Given the description of an element on the screen output the (x, y) to click on. 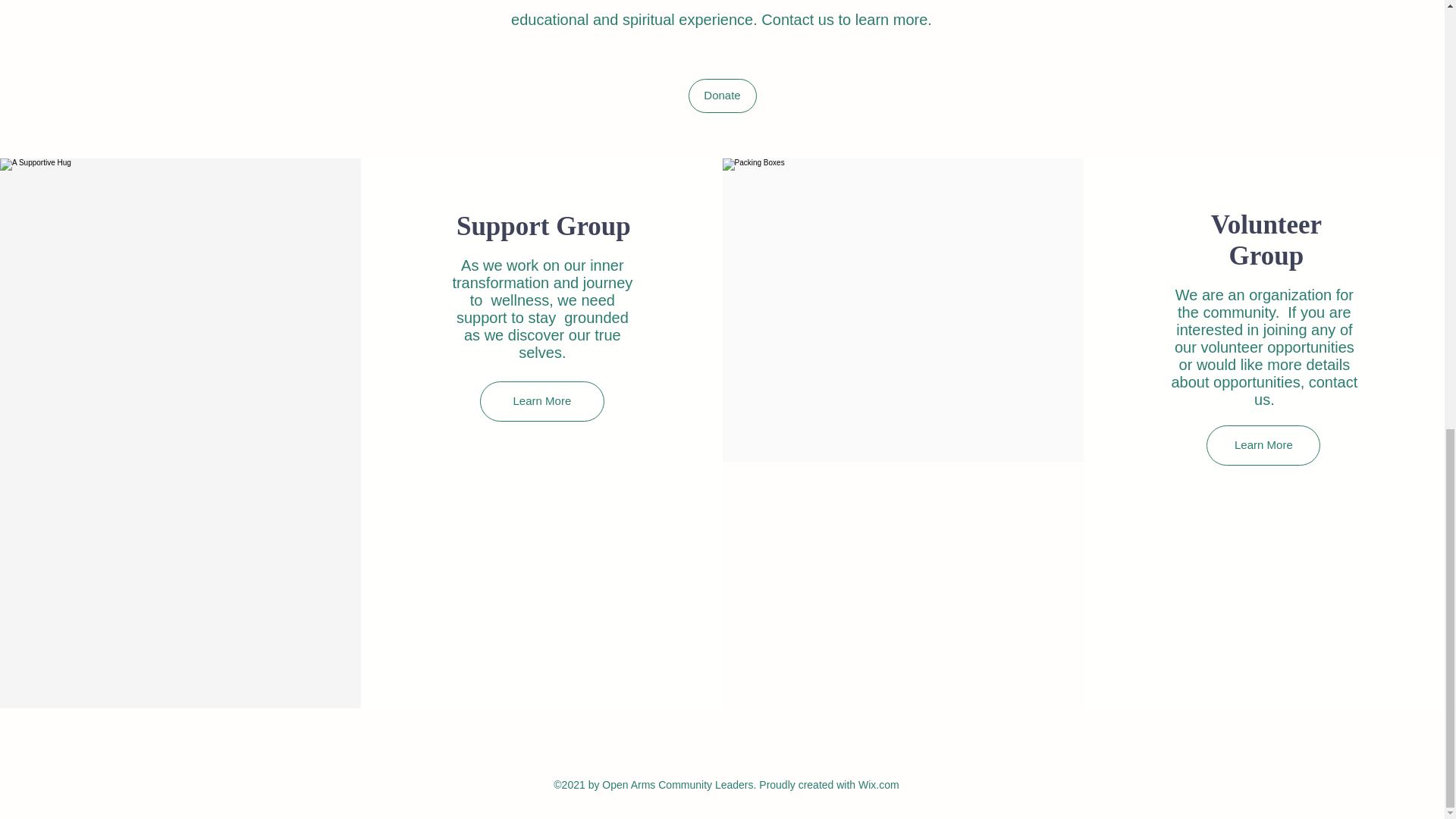
Donate (722, 95)
Learn More (1263, 445)
Learn More (542, 401)
